Given the description of an element on the screen output the (x, y) to click on. 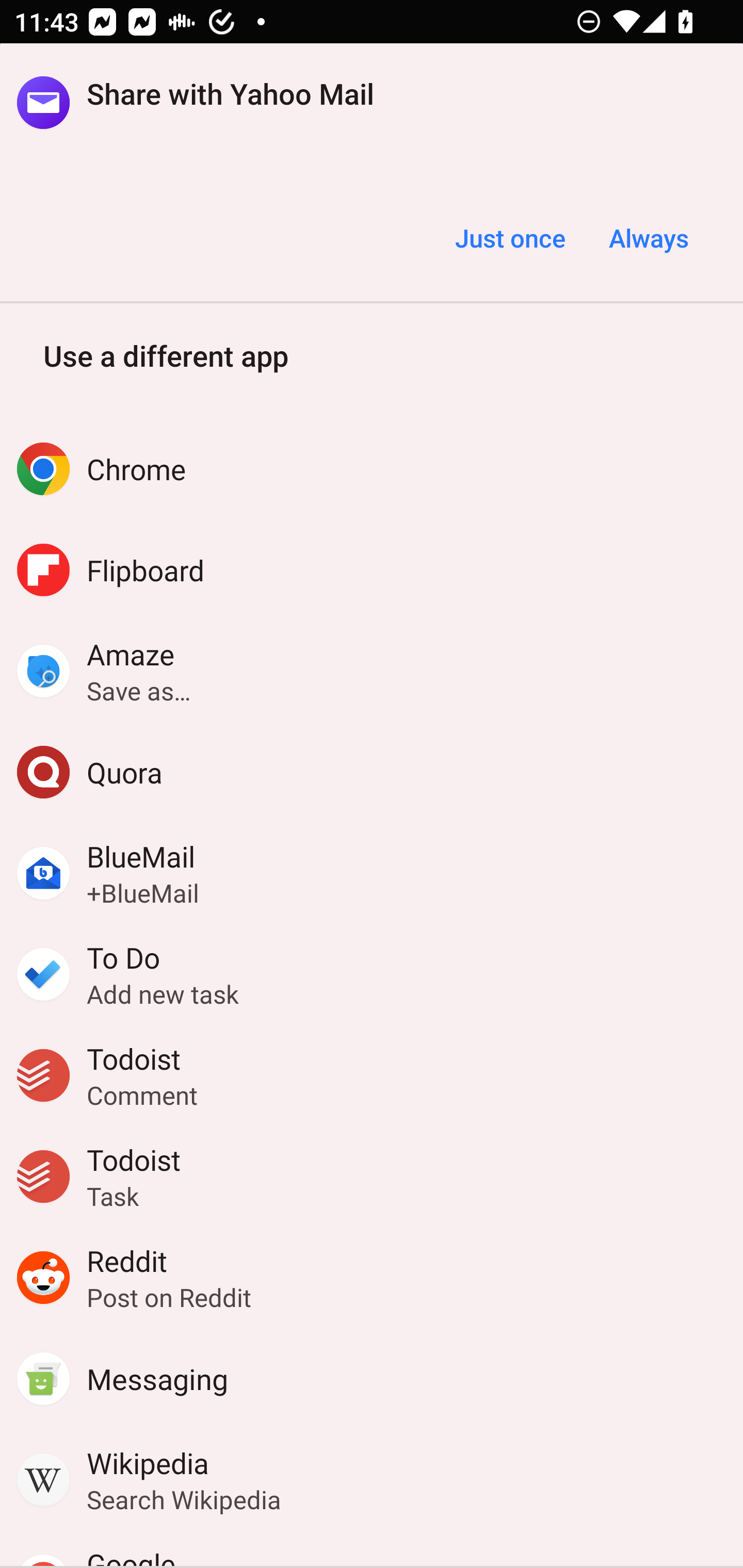
Just once (509, 237)
Always (648, 237)
Chrome (371, 468)
Flipboard (371, 569)
Amaze Save as… (371, 670)
Quora (371, 772)
BlueMail +BlueMail (371, 873)
To Do Add new task (371, 974)
Todoist Comment (371, 1075)
Todoist Task (371, 1176)
Reddit Post on Reddit (371, 1277)
Messaging (371, 1379)
Wikipedia Search Wikipedia (371, 1480)
